Given the description of an element on the screen output the (x, y) to click on. 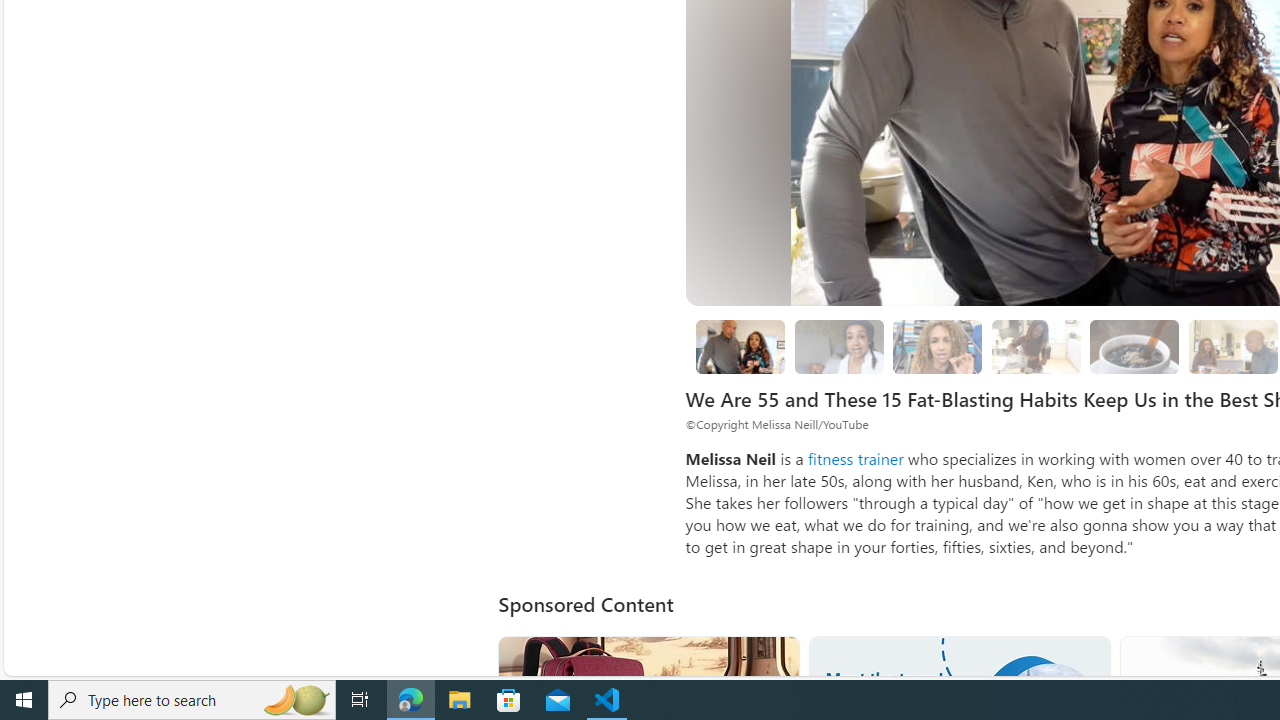
8 Be Mindful of Coffee (1135, 346)
1 We Eat a Protein-Packed Pre-Workout Snack (838, 346)
3 They Drink Lemon Tea (1035, 346)
2 They Use Protein Powder for Flavor (937, 346)
3 They Drink Lemon Tea (1035, 346)
1 We Eat a Protein-Packed Pre-Workout Snack (838, 346)
8 Be Mindful of Coffee (1134, 346)
5 She Eats Less Than Her Husband (1232, 346)
fitness trainer (855, 457)
2 They Use Protein Powder for Flavor (938, 346)
Class: progress (1134, 343)
